Given the description of an element on the screen output the (x, y) to click on. 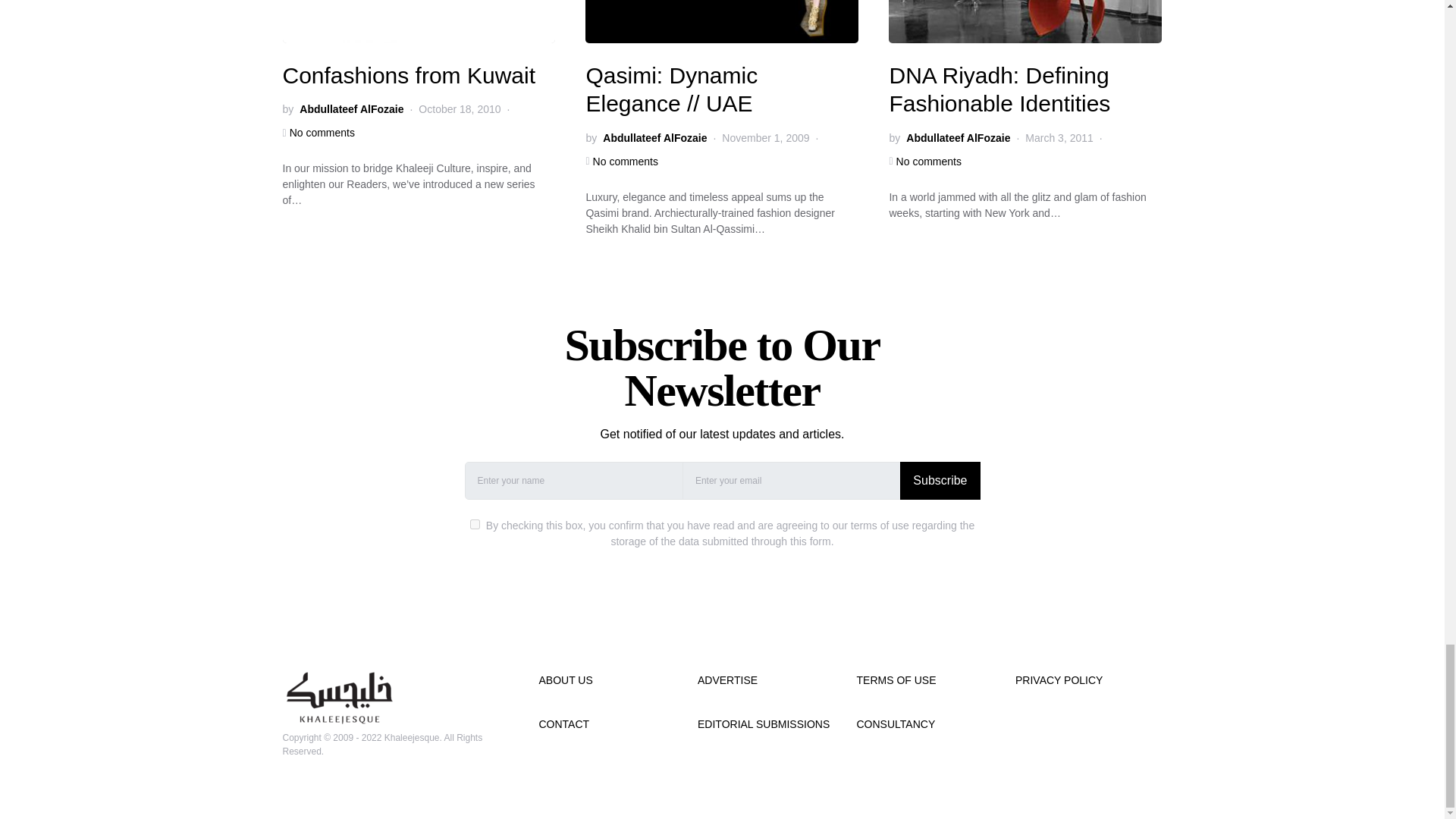
on (475, 524)
View all posts by Abdullateef AlFozaie (957, 138)
View all posts by Abdullateef AlFozaie (654, 138)
View all posts by Abdullateef AlFozaie (351, 109)
